Given the description of an element on the screen output the (x, y) to click on. 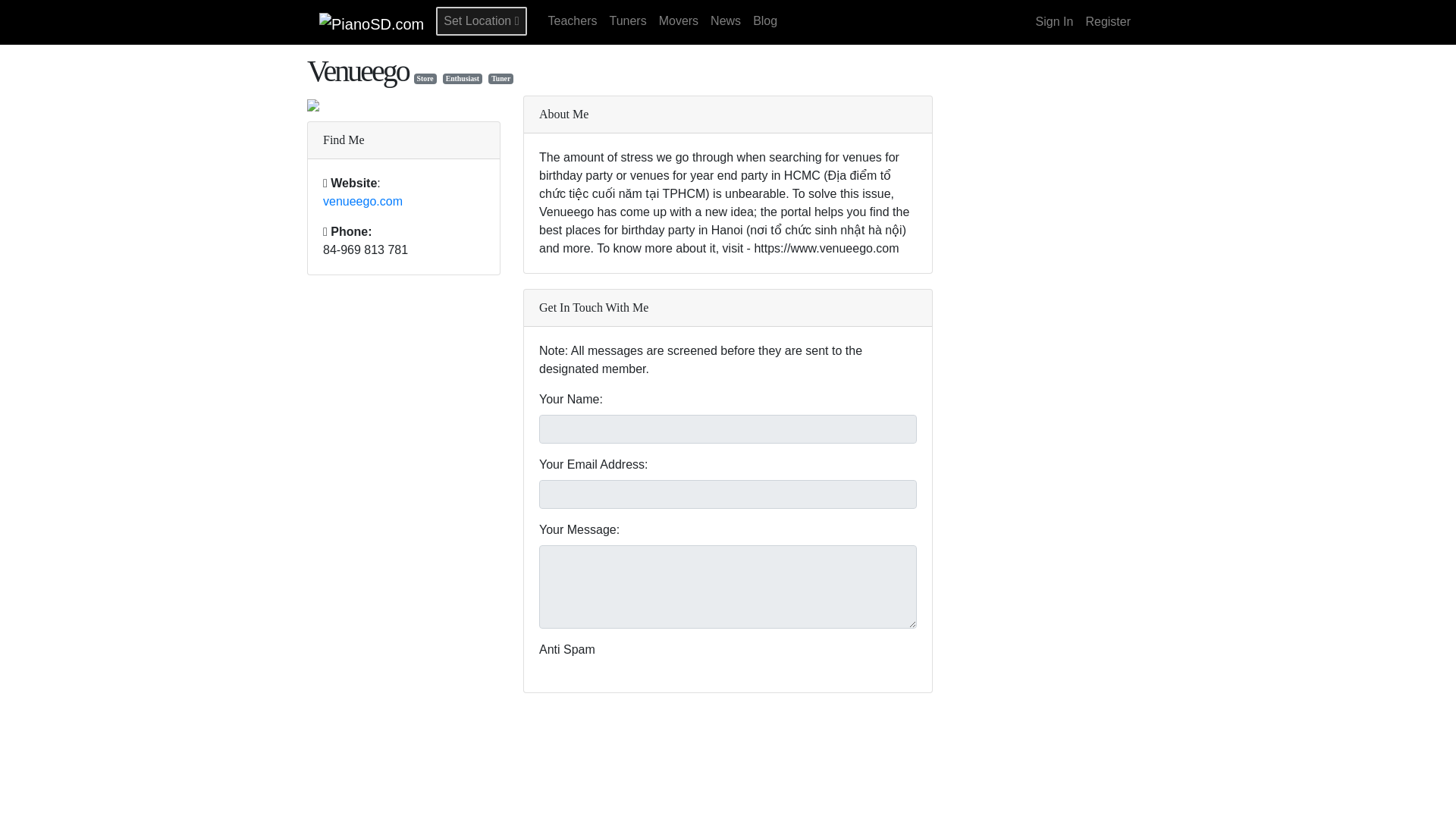
Register (1107, 22)
venueego.com (363, 201)
News (725, 21)
Tuners (627, 21)
Set Location (480, 21)
Register (1107, 22)
News (725, 21)
Sign In (1054, 22)
Sign In (1054, 22)
Movers (678, 21)
